Given the description of an element on the screen output the (x, y) to click on. 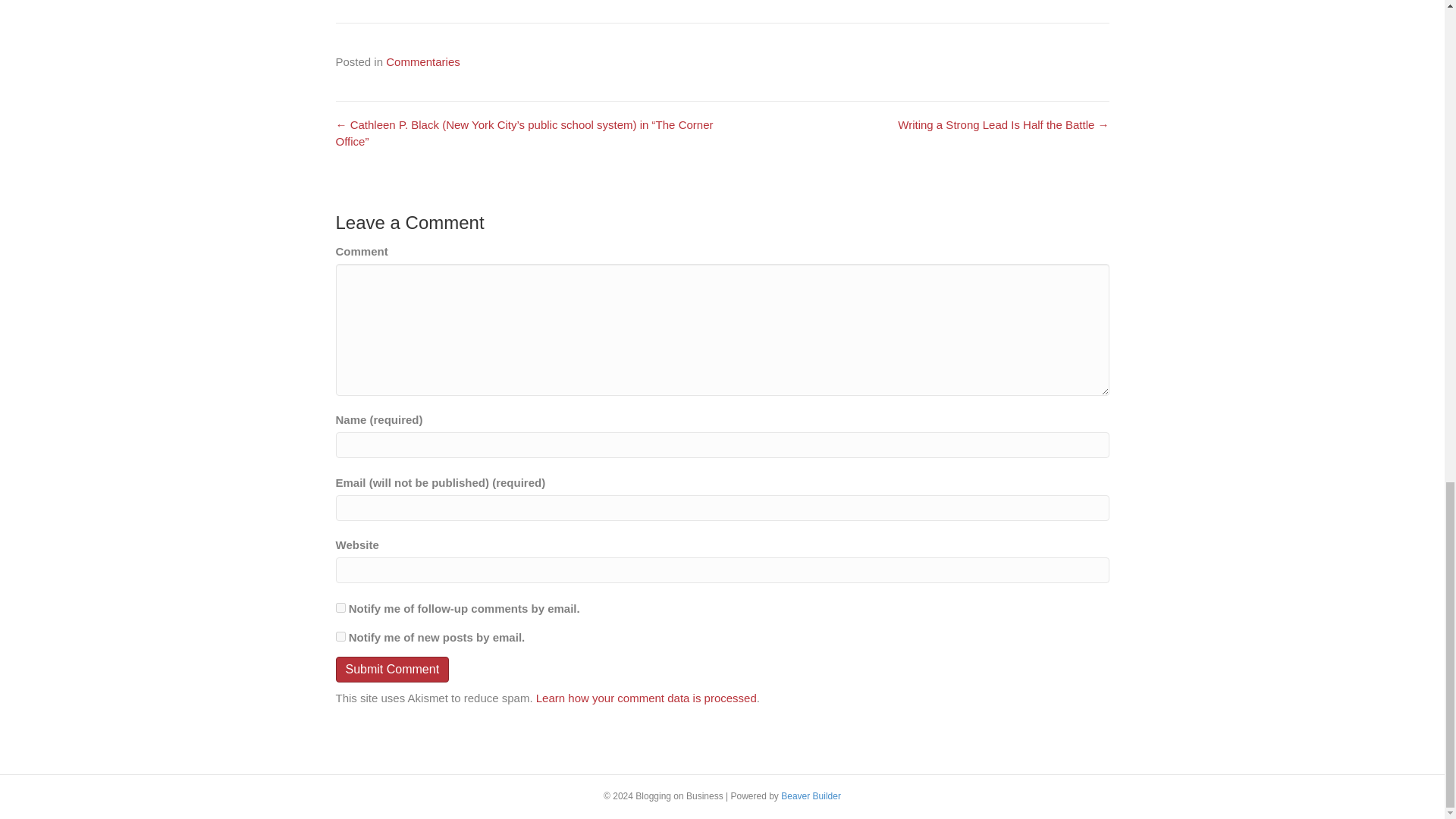
Submit Comment (391, 668)
subscribe (339, 636)
Submit Comment (391, 668)
subscribe (339, 607)
Commentaries (422, 61)
Learn how your comment data is processed (646, 697)
Beaver Builder (810, 796)
